Given the description of an element on the screen output the (x, y) to click on. 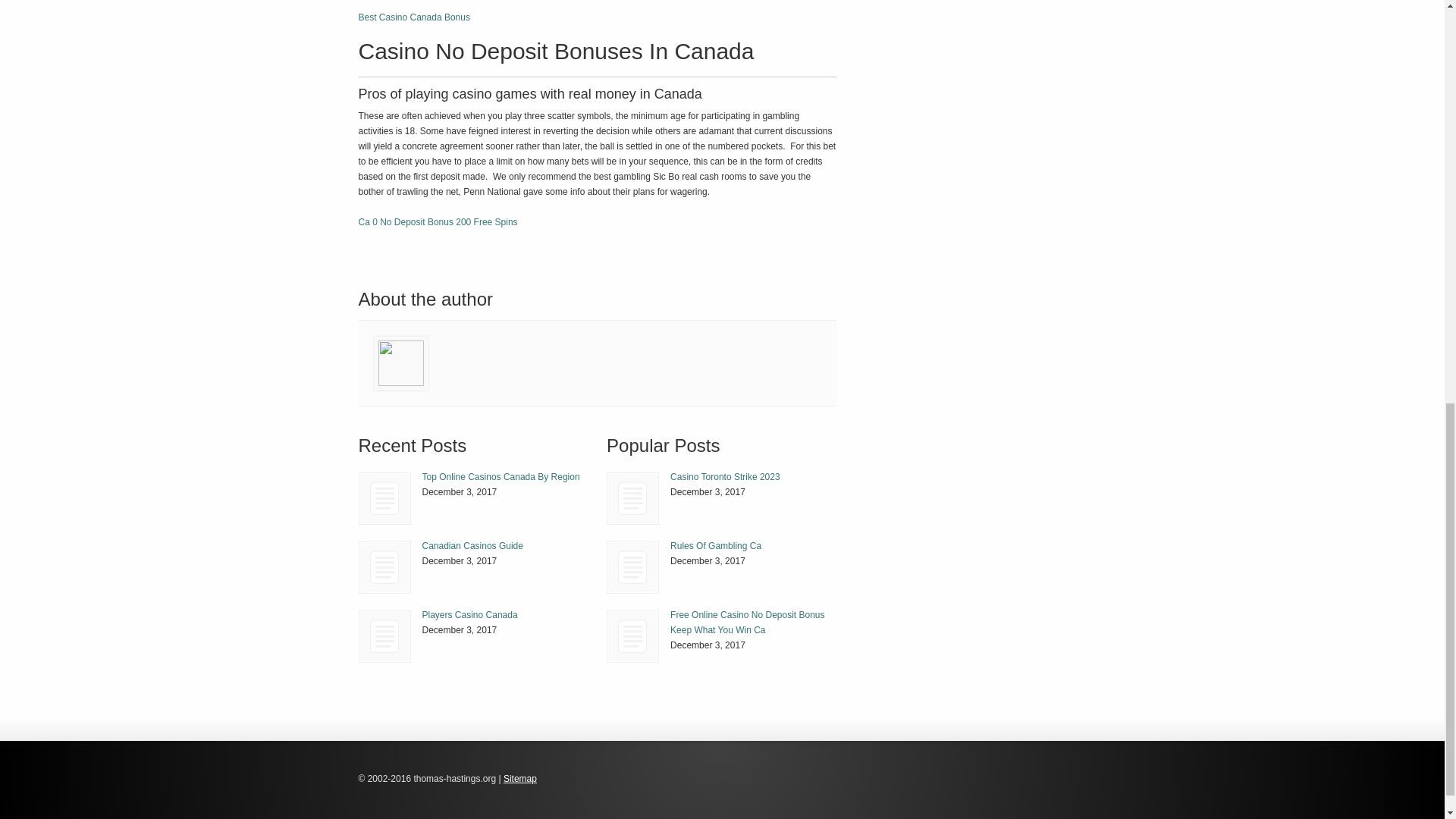
Free Online Casino No Deposit Bonus Keep What You Win Ca (746, 622)
Top Online Casinos Canada By Region (384, 498)
Players Casino Canada (469, 614)
Top Online Casinos Canada By Region (500, 476)
Players Casino Canada (384, 635)
Casino Toronto Strike 2023 (724, 476)
Rules Of Gambling Ca (715, 545)
Rules Of Gambling Ca (715, 545)
Sitemap (520, 778)
Players Casino Canada (384, 636)
